Given the description of an element on the screen output the (x, y) to click on. 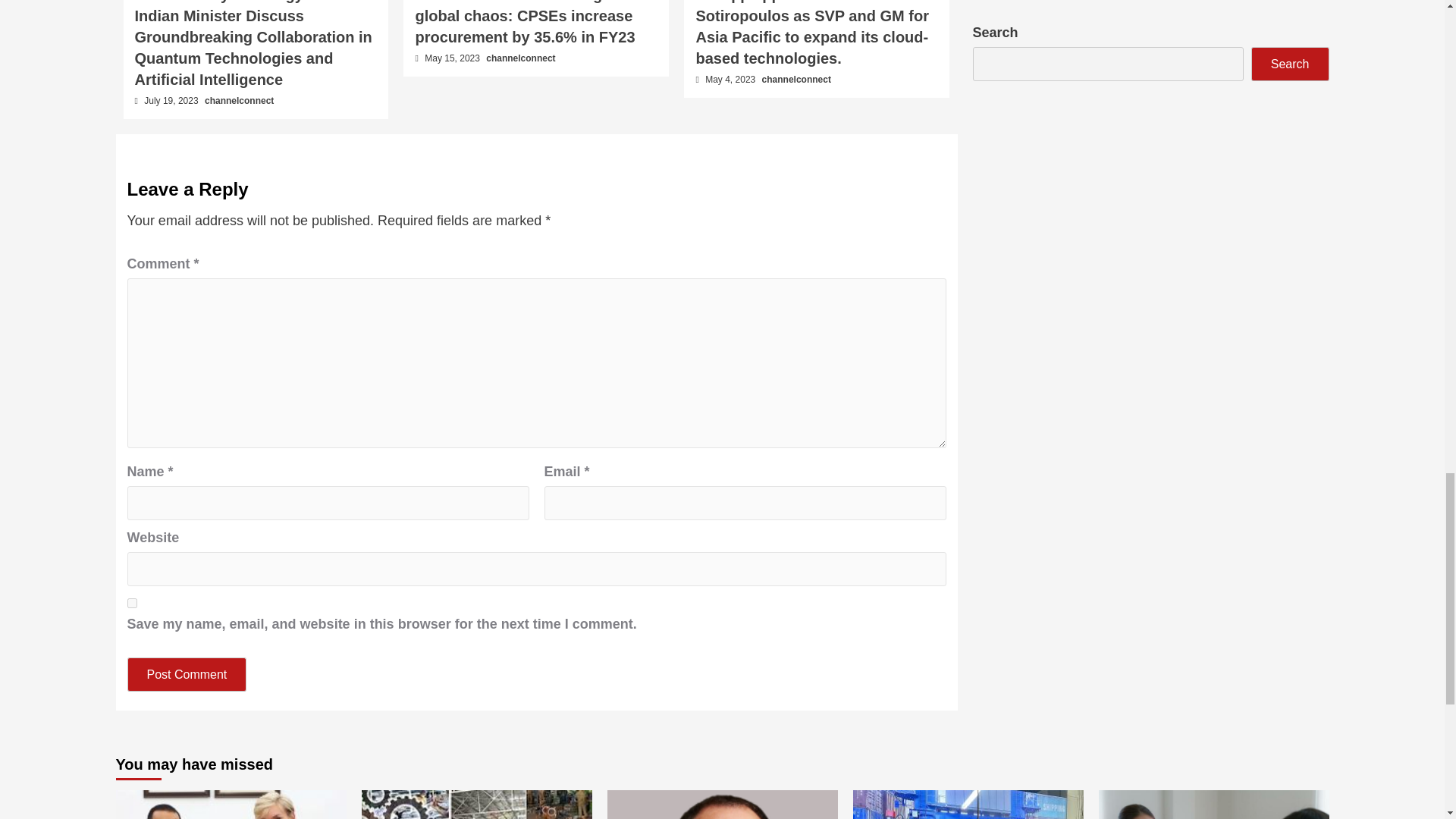
channelconnect (520, 58)
channelconnect (796, 79)
channelconnect (239, 100)
Post Comment (187, 674)
Post Comment (187, 674)
yes (132, 603)
